Given the description of an element on the screen output the (x, y) to click on. 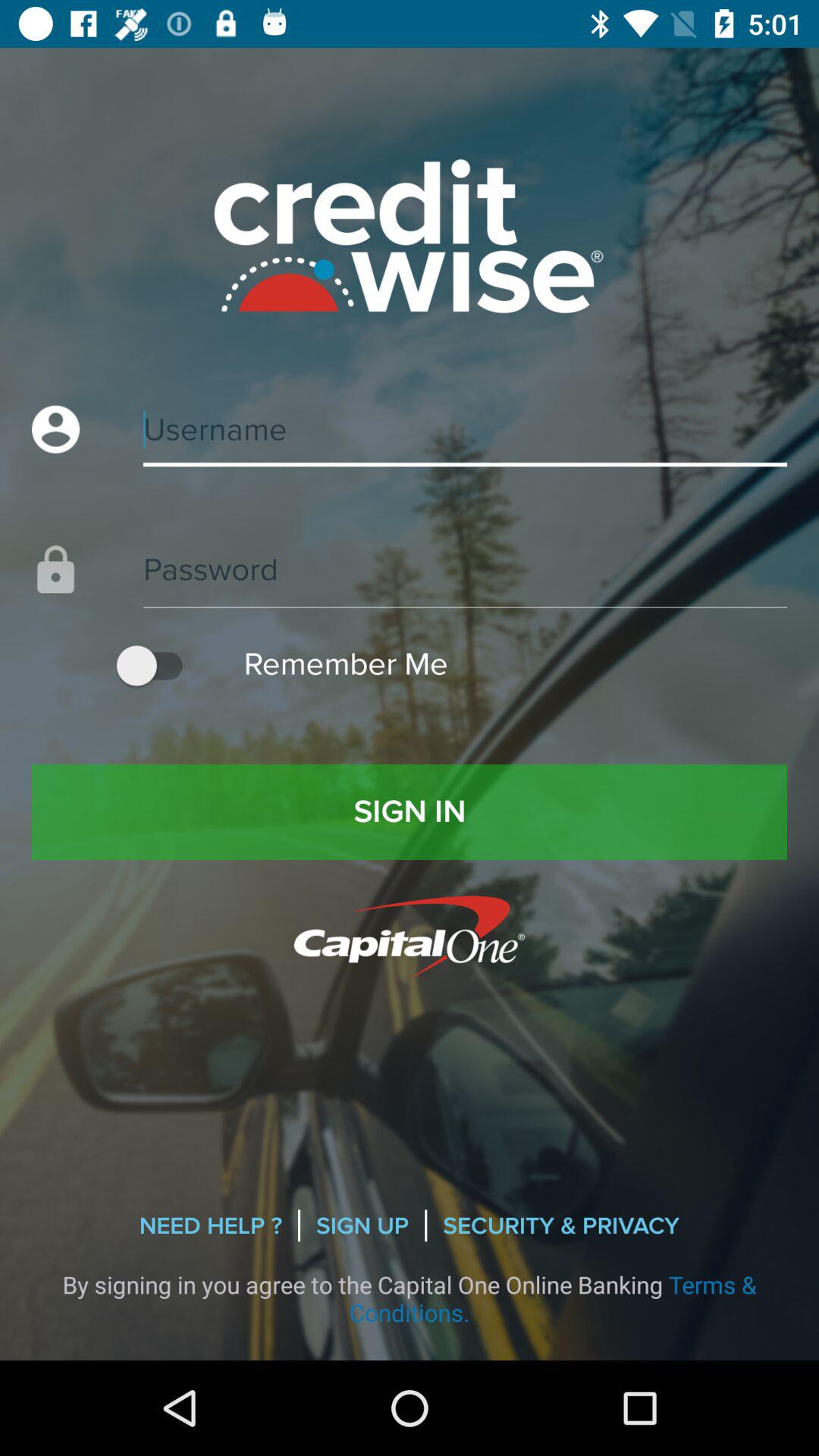
turn off sign up (362, 1225)
